Given the description of an element on the screen output the (x, y) to click on. 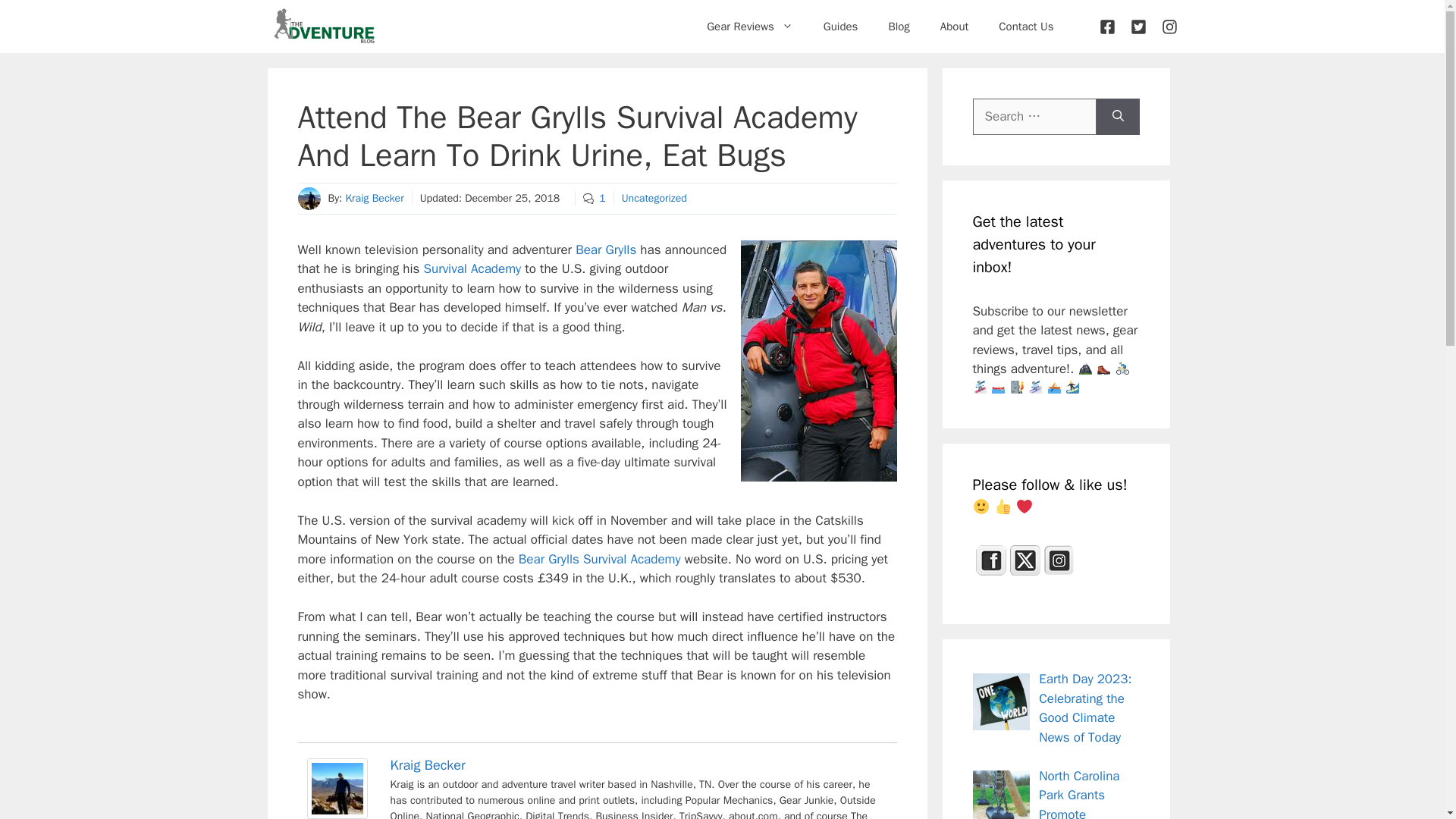
Bear Grylls Survival Academy (599, 559)
The Adventure Blog (323, 26)
Blog (898, 26)
Gear Reviews (749, 26)
Kraig Becker (335, 812)
Contact Us (1026, 26)
Twitter (1025, 560)
Instagram (1058, 560)
Facebook (990, 560)
Kraig Becker (427, 764)
Survival Academy (472, 268)
Bear Grylls (605, 249)
Kraig Becker (374, 197)
Guides (840, 26)
About (954, 26)
